Given the description of an element on the screen output the (x, y) to click on. 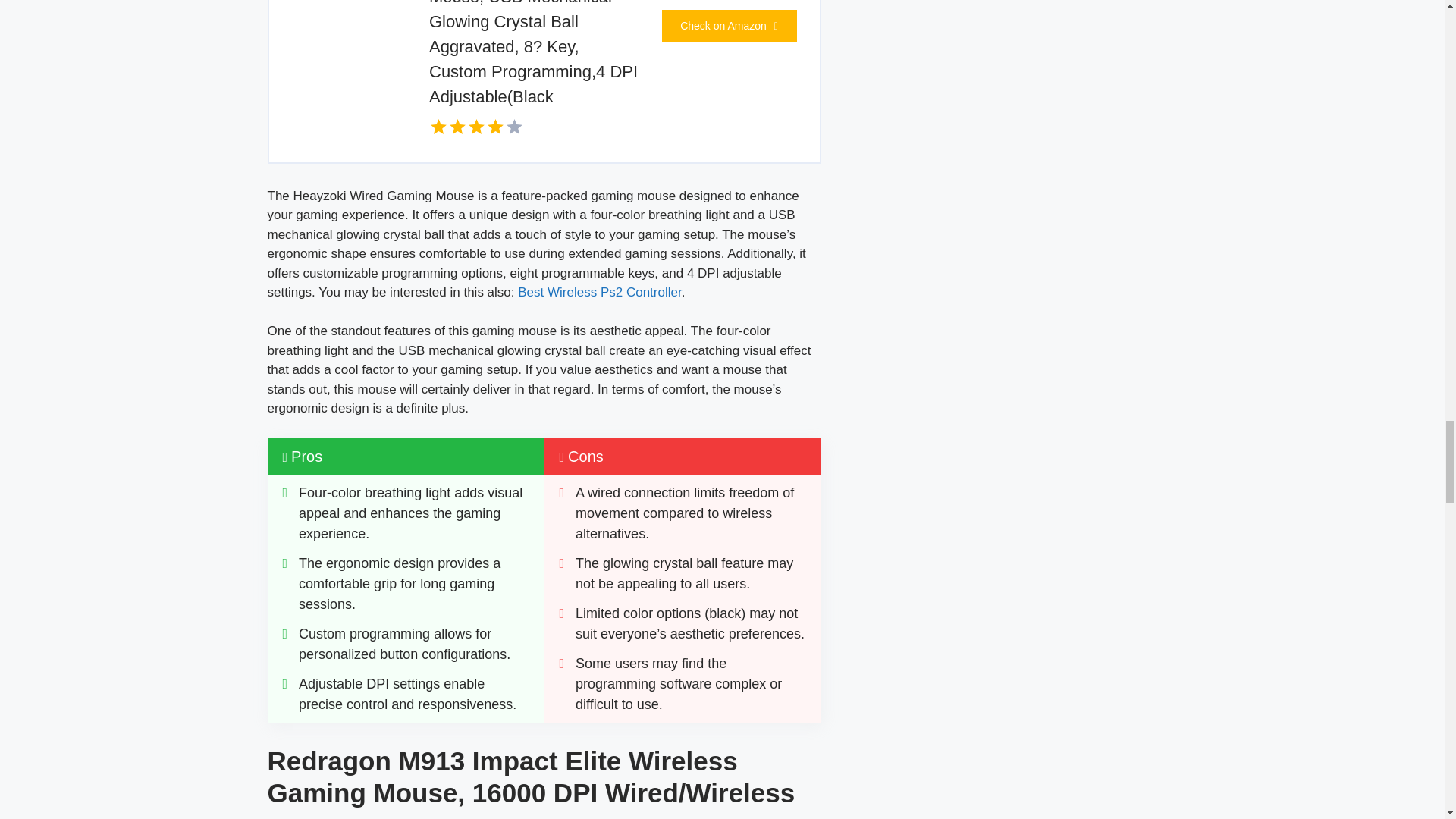
Best Wireless Ps2 Controller (599, 292)
Check on Amazon (728, 25)
Best Mouses For Programming 4 (337, 24)
